Given the description of an element on the screen output the (x, y) to click on. 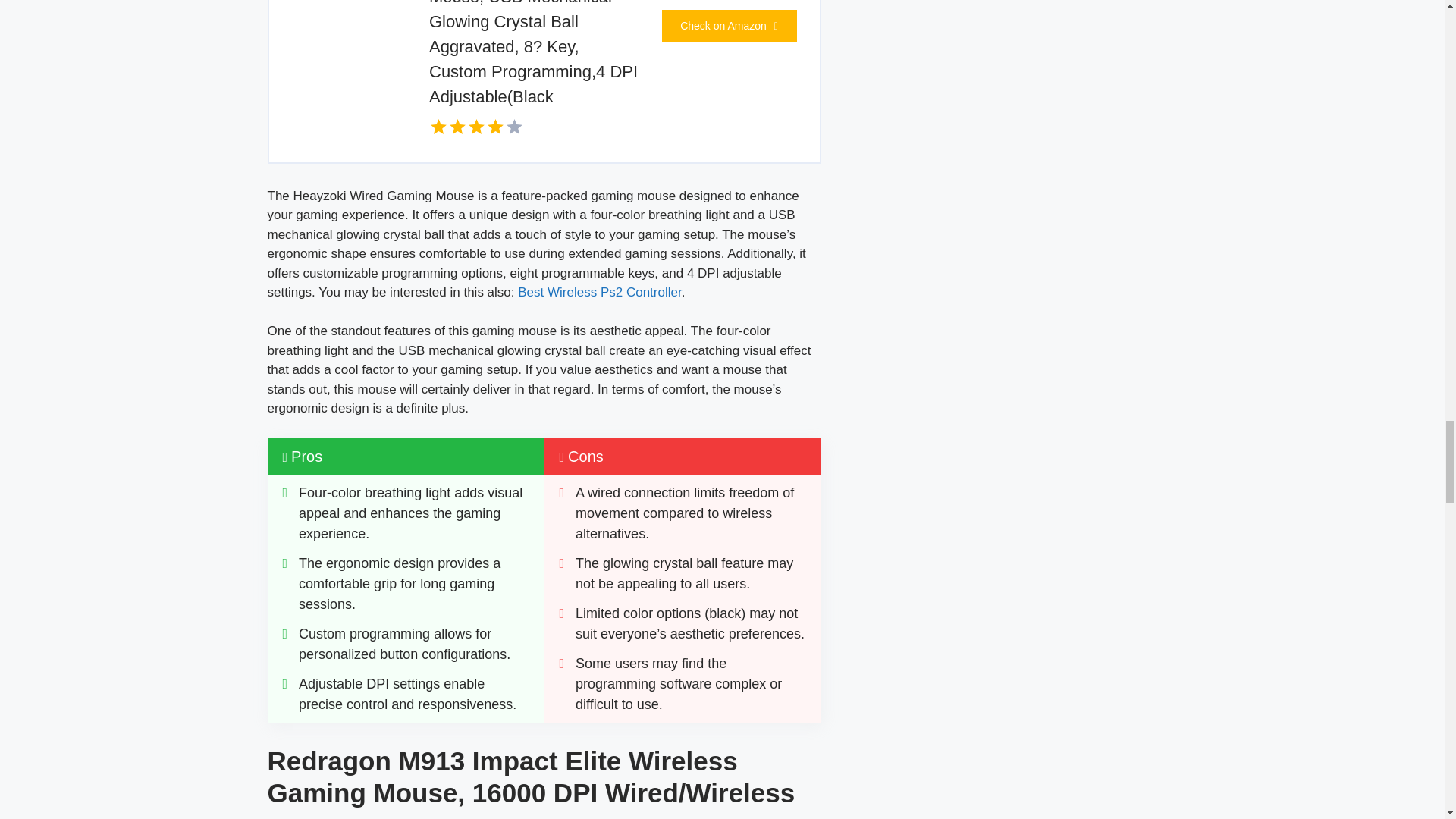
Best Wireless Ps2 Controller (599, 292)
Check on Amazon (728, 25)
Best Mouses For Programming 4 (337, 24)
